Given the description of an element on the screen output the (x, y) to click on. 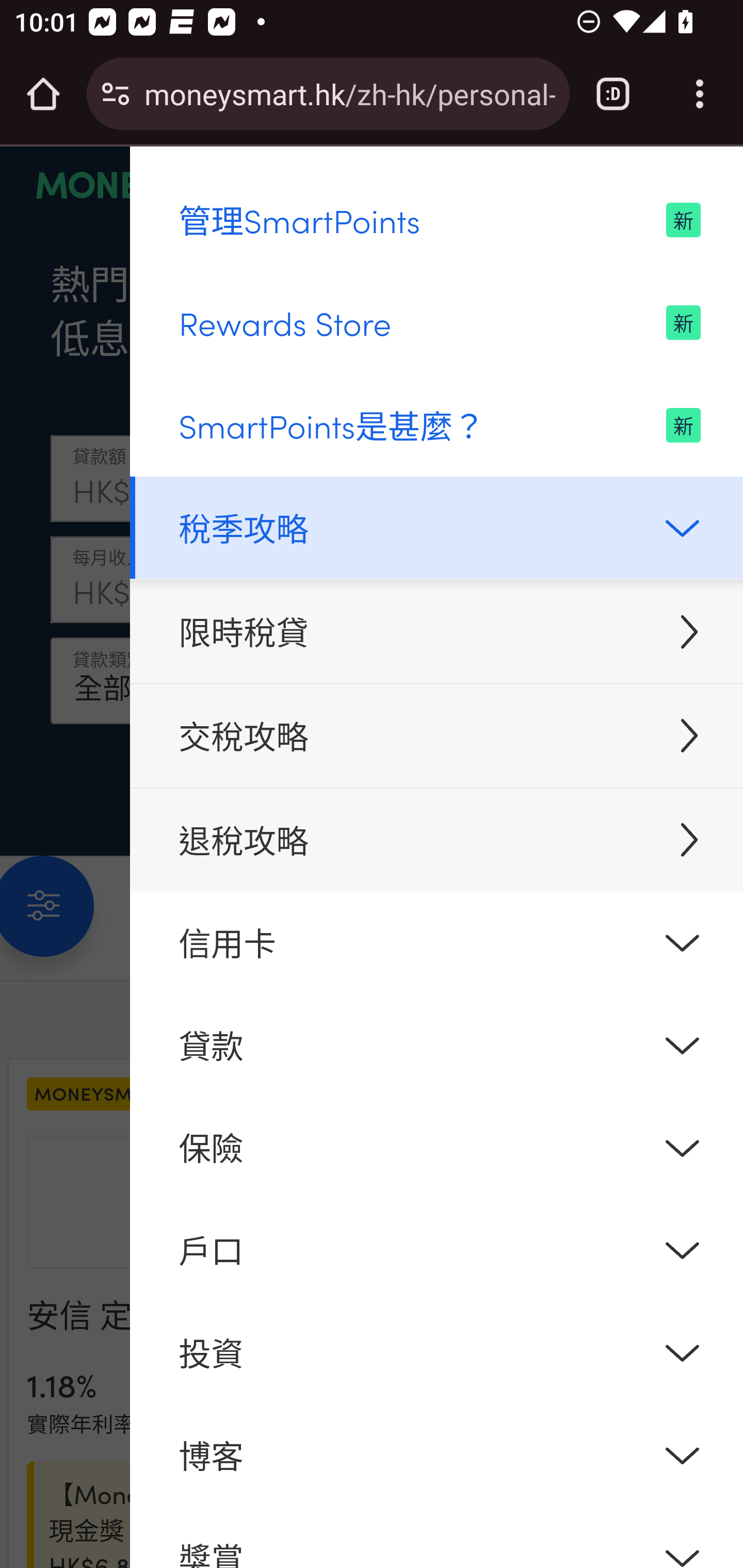
Open the home page (43, 93)
Connection is secure (115, 93)
Switch or close tabs (612, 93)
Customize and control Google Chrome (699, 93)
稅季攻略 (436, 526)
